Given the description of an element on the screen output the (x, y) to click on. 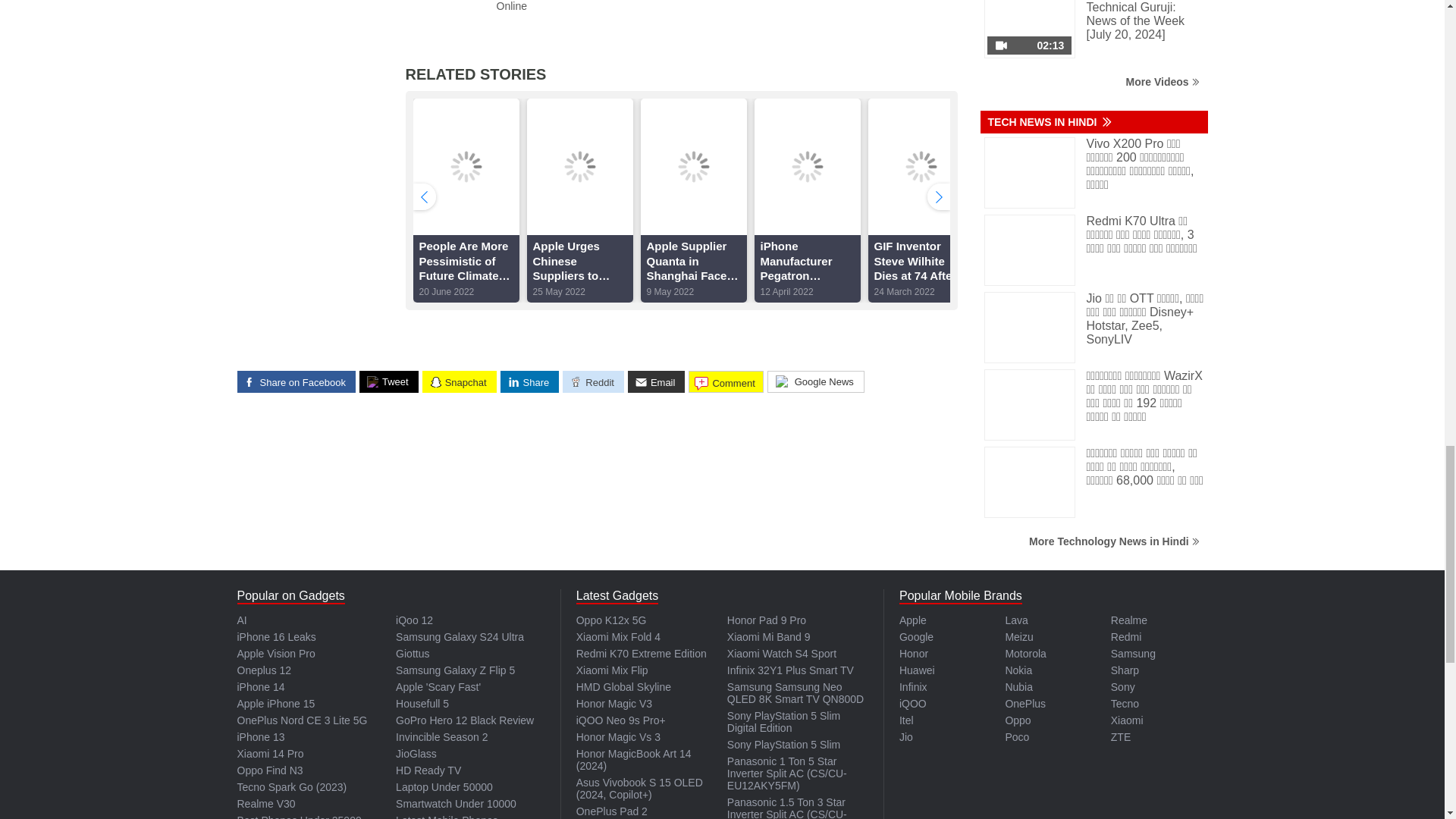
Reddit (593, 382)
Share on Facebook (295, 382)
Tweet (389, 382)
Google News (815, 382)
Share (529, 382)
Email (656, 382)
